Given the description of an element on the screen output the (x, y) to click on. 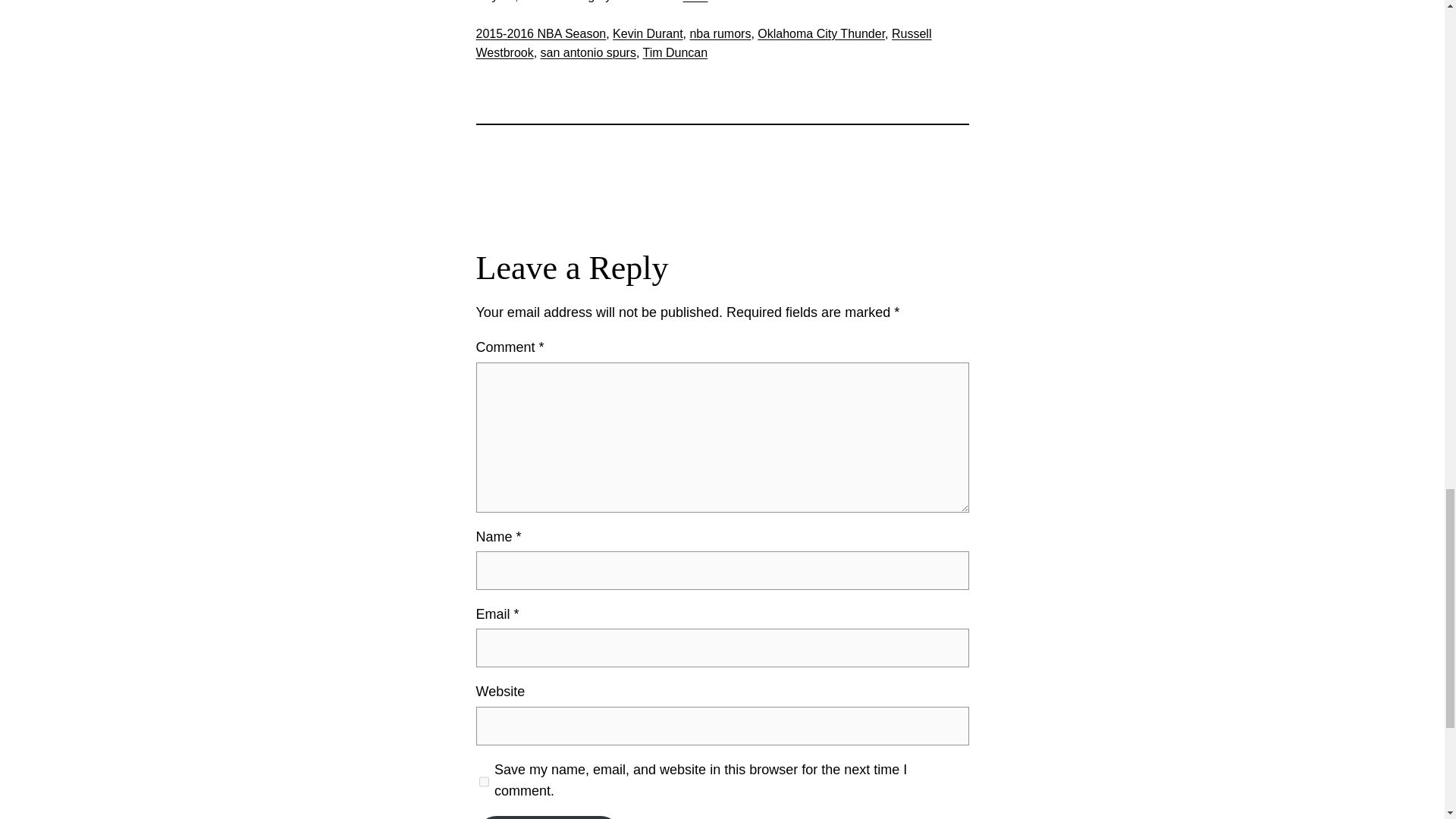
Kevin Durant (647, 33)
san antonio spurs (588, 51)
Russell Westbrook (703, 43)
Post Comment (548, 817)
NBA (694, 1)
2015-2016 NBA Season (541, 33)
Tim Duncan (675, 51)
Post Comment (548, 817)
Oklahoma City Thunder (821, 33)
nba rumors (719, 33)
